Given the description of an element on the screen output the (x, y) to click on. 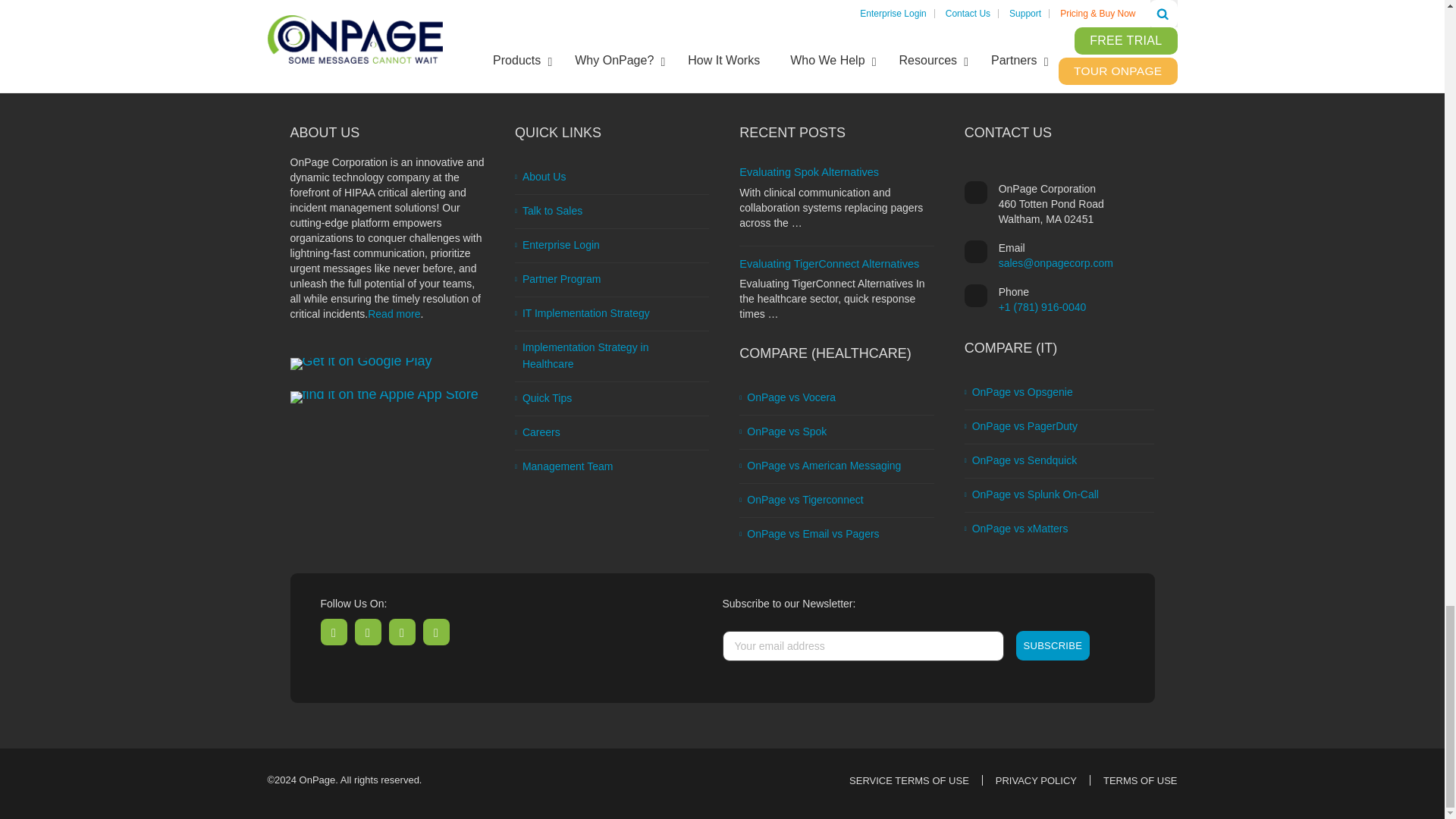
Subscribe (1052, 645)
